Given the description of an element on the screen output the (x, y) to click on. 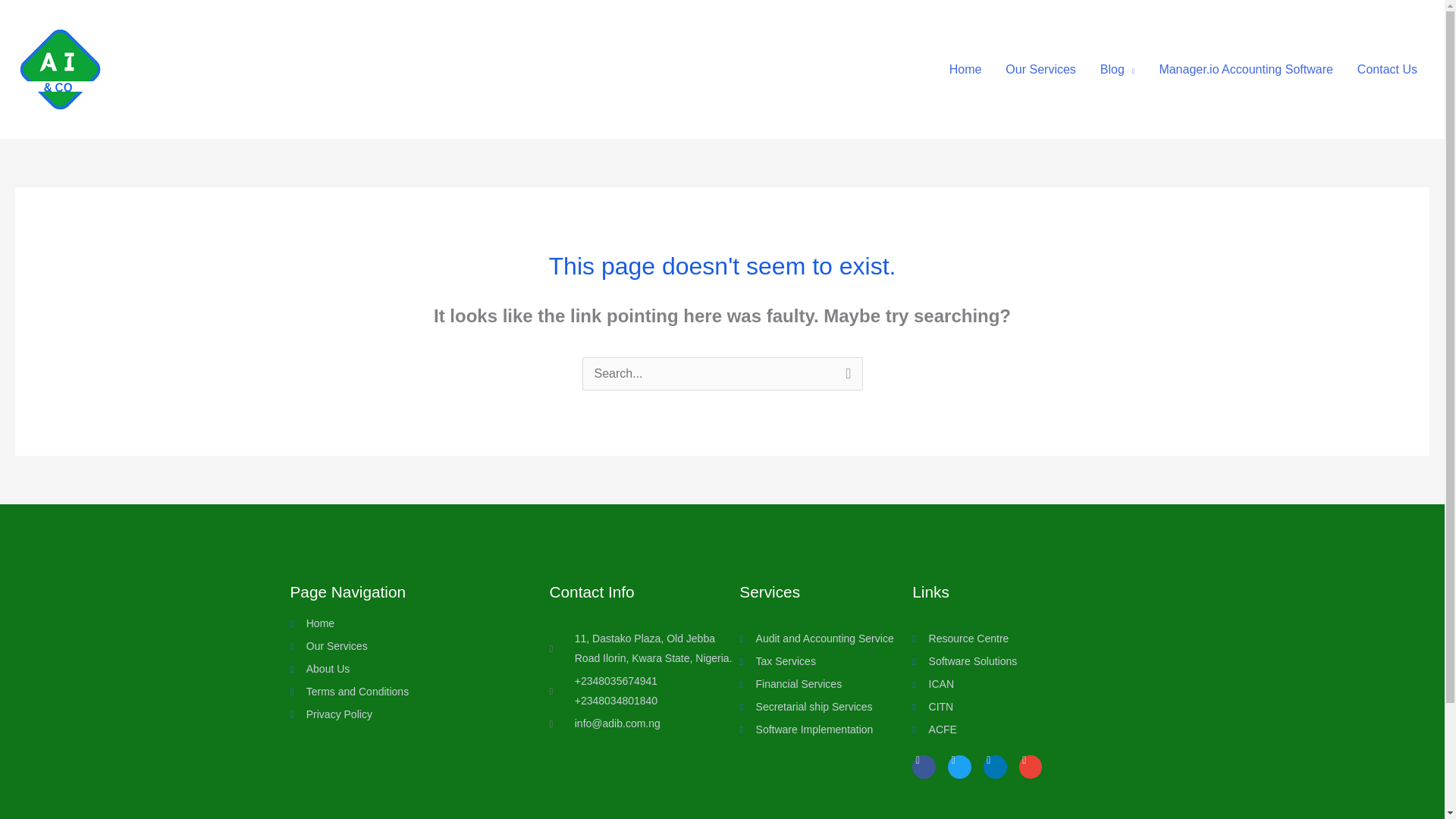
Linkedin-in (995, 766)
Terms and Conditions (394, 691)
Financial Services (825, 684)
Home (965, 68)
ICAN (1023, 684)
Resource Centre (1023, 639)
Search (844, 376)
Envelope (1030, 766)
Blog (1117, 68)
Search (844, 376)
Facebook-f (924, 766)
Software Solutions (1023, 661)
Twitter (959, 766)
Home (394, 623)
Manager.io Accounting Software (1245, 68)
